Given the description of an element on the screen output the (x, y) to click on. 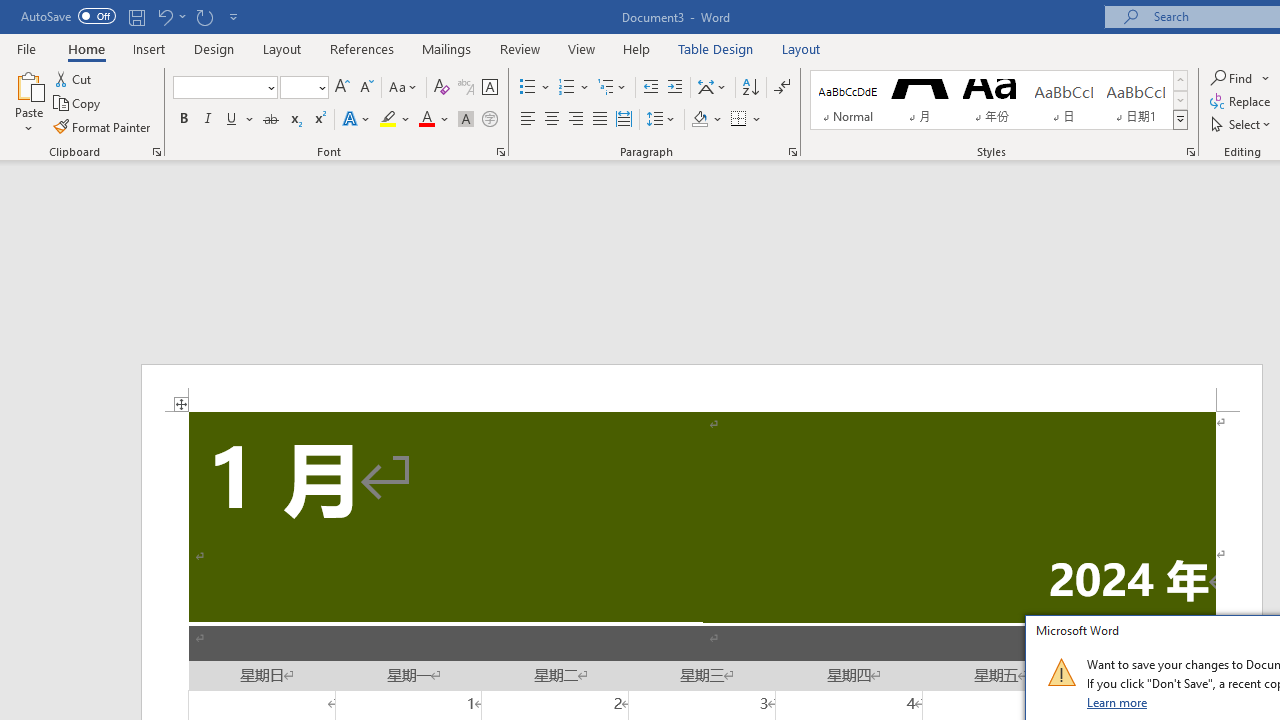
Change Case (404, 87)
